Given the description of an element on the screen output the (x, y) to click on. 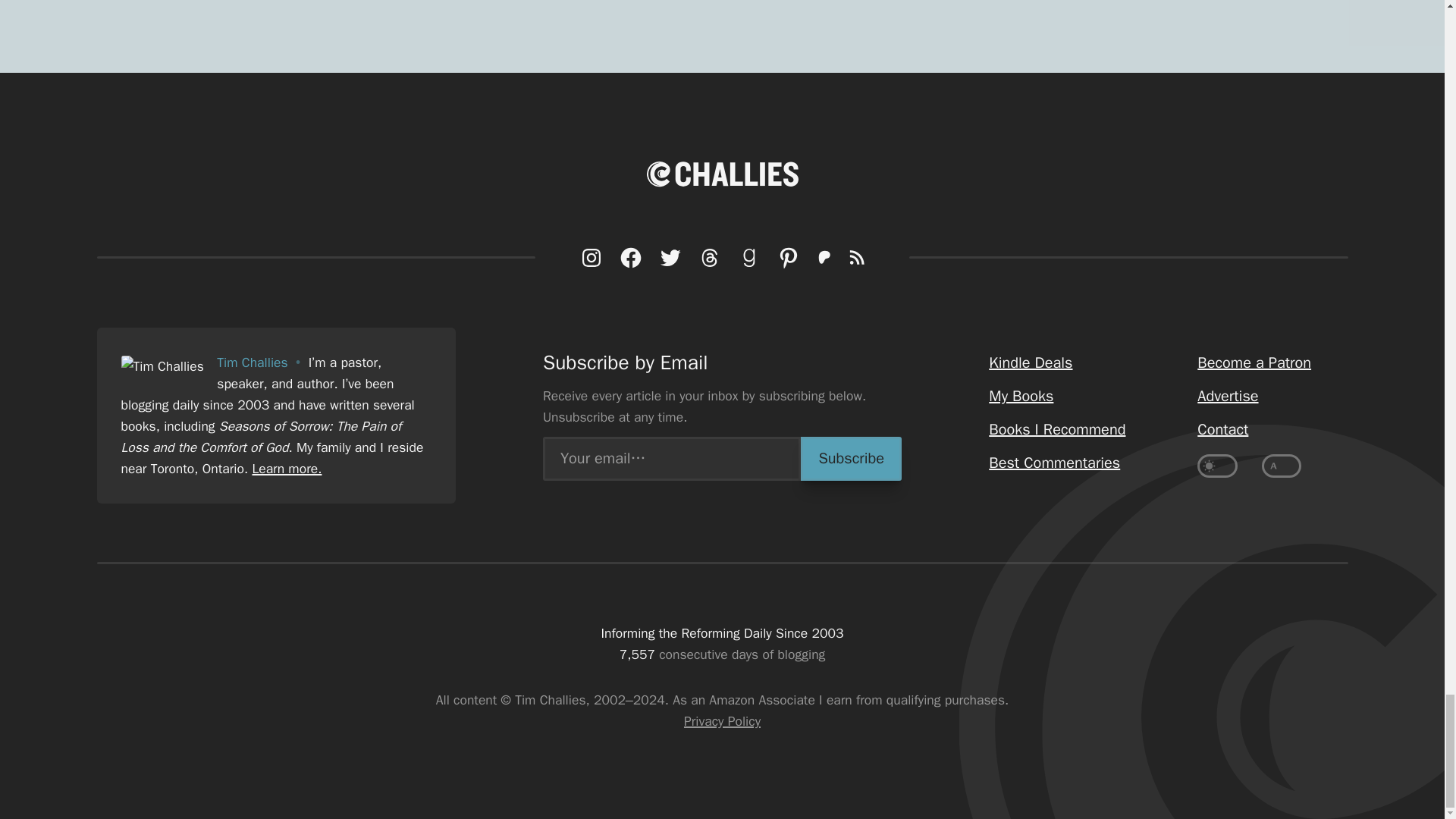
on (1216, 465)
Challies logo (721, 173)
Subscribe (850, 458)
on (1281, 465)
